Given the description of an element on the screen output the (x, y) to click on. 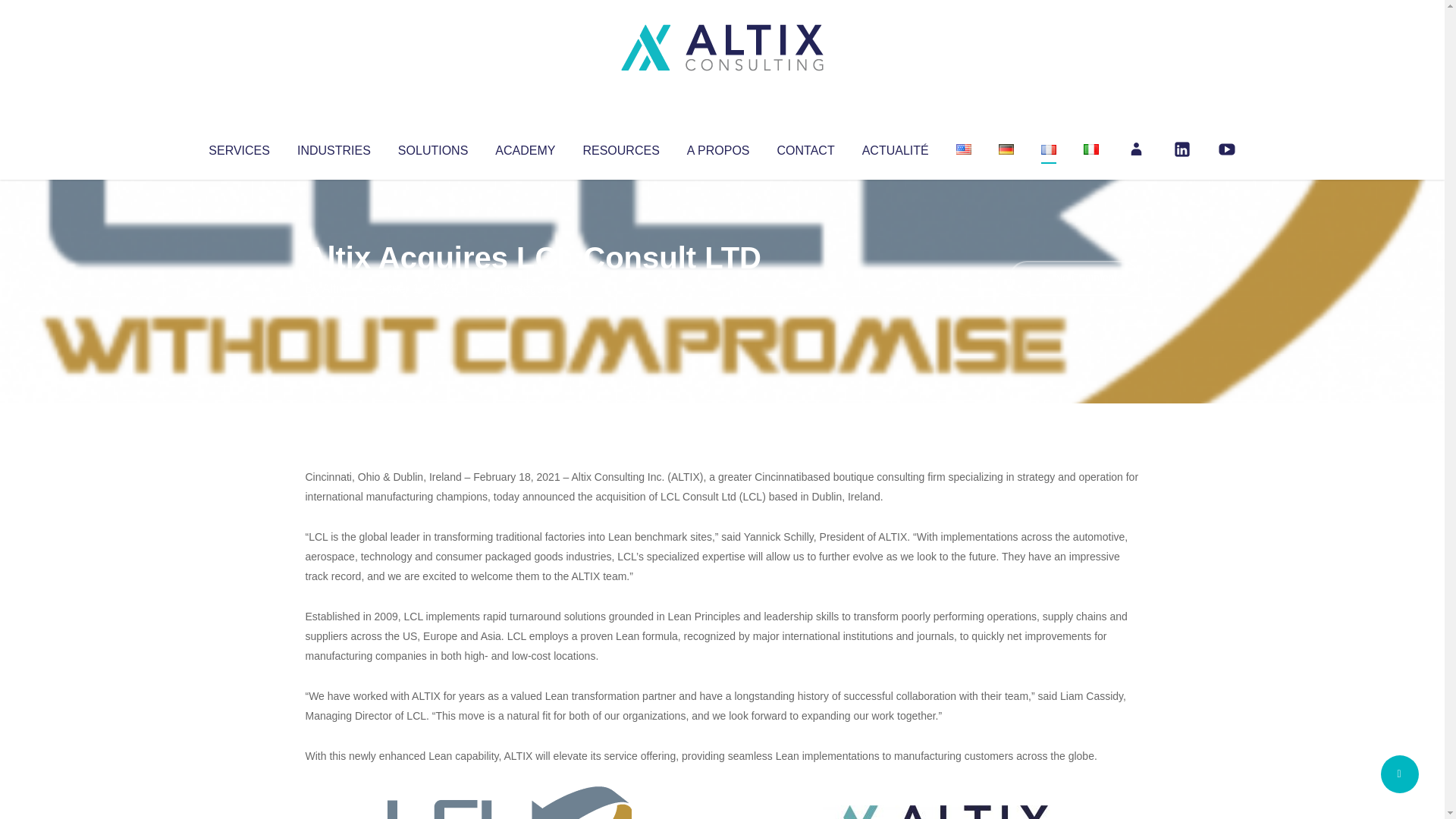
Uncategorized (530, 287)
Articles par Altix (333, 287)
SERVICES (238, 146)
No Comments (1073, 278)
Altix (333, 287)
ACADEMY (524, 146)
RESOURCES (620, 146)
SOLUTIONS (432, 146)
INDUSTRIES (334, 146)
A PROPOS (718, 146)
